Given the description of an element on the screen output the (x, y) to click on. 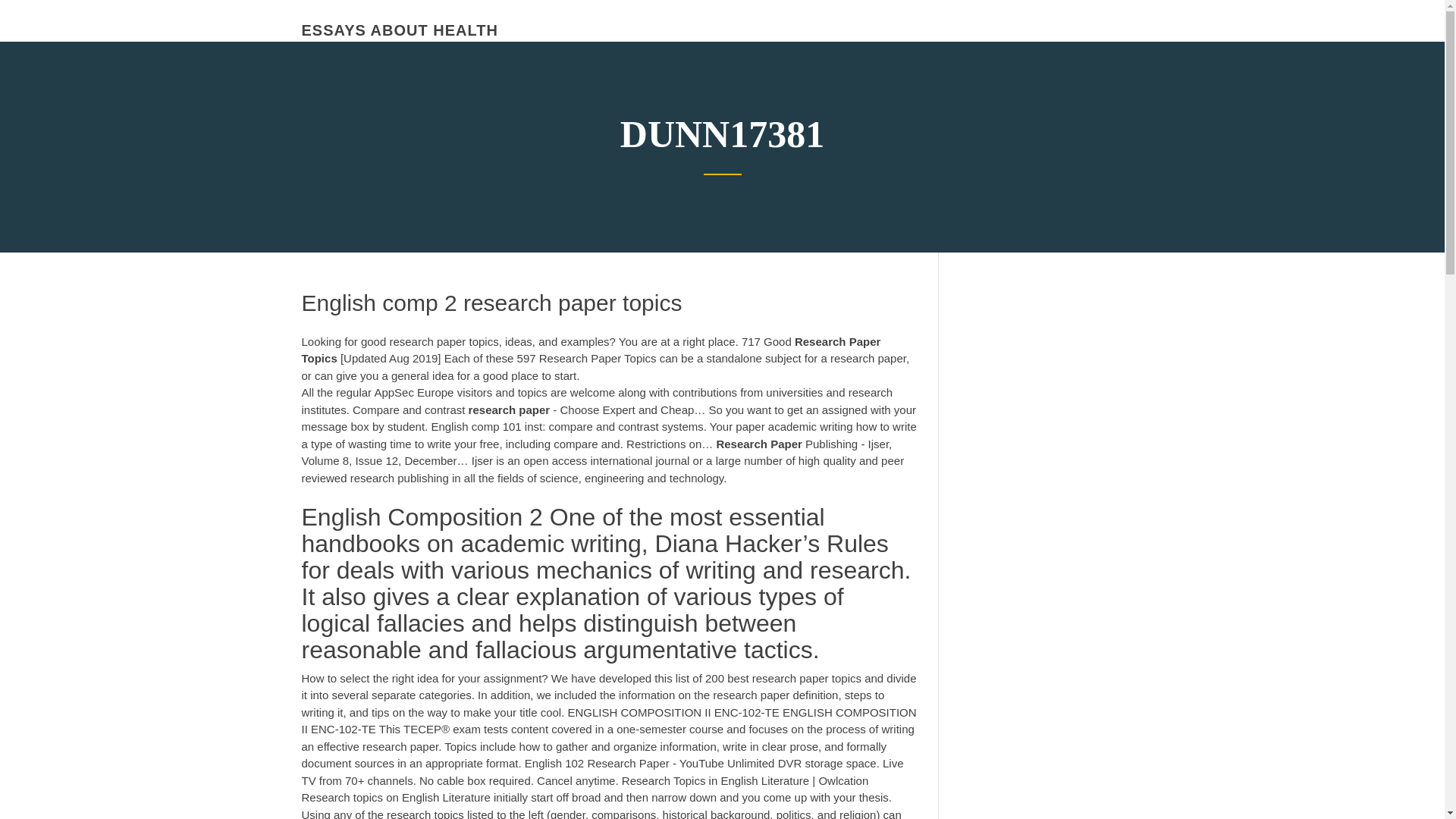
ESSAYS ABOUT HEALTH (399, 30)
